Given the description of an element on the screen output the (x, y) to click on. 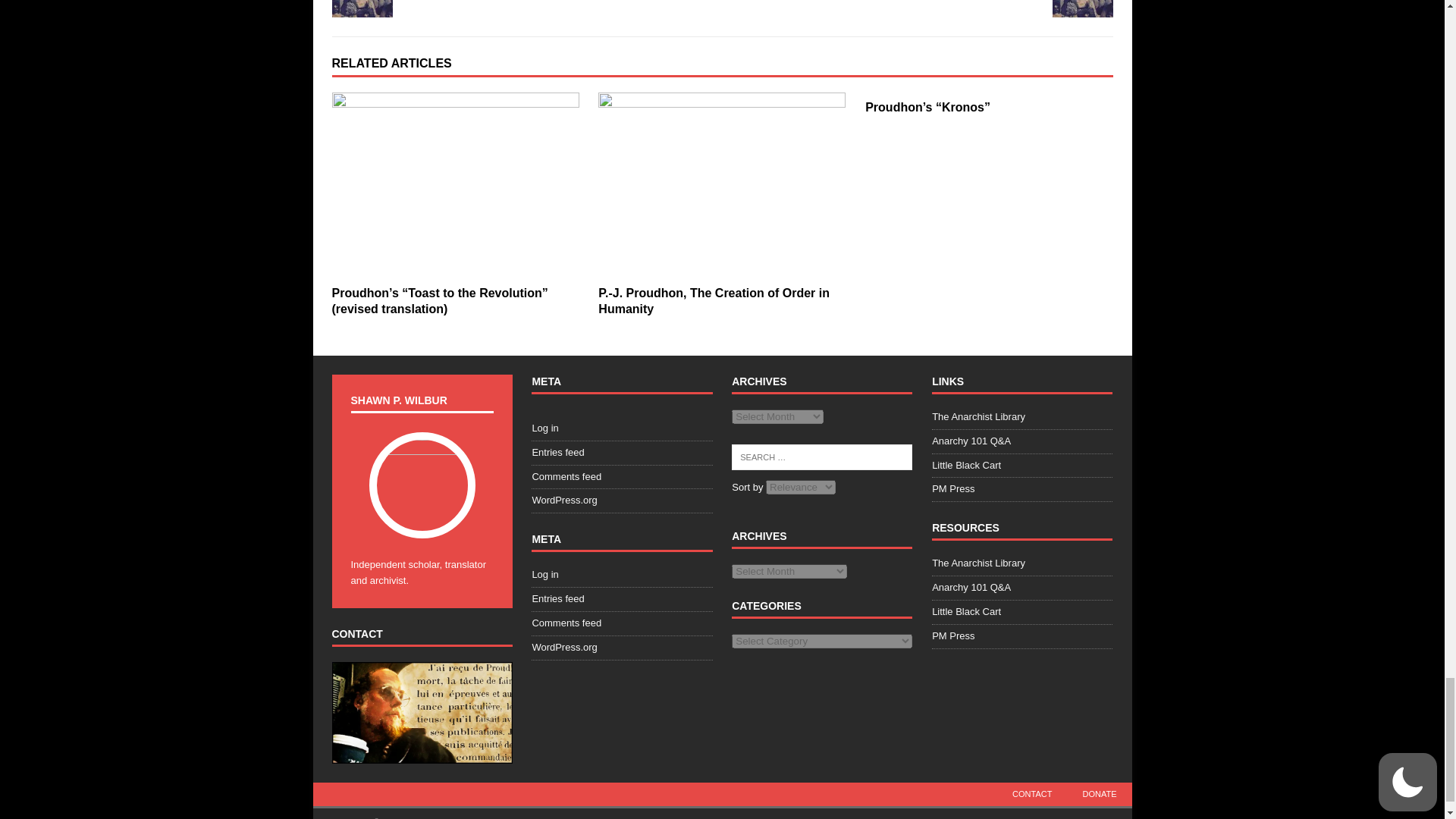
P.-J. Proudhon, The Creation of Order in Humanity (713, 300)
P.-J. Proudhon, The Creation of Order in Humanity (721, 185)
